Given the description of an element on the screen output the (x, y) to click on. 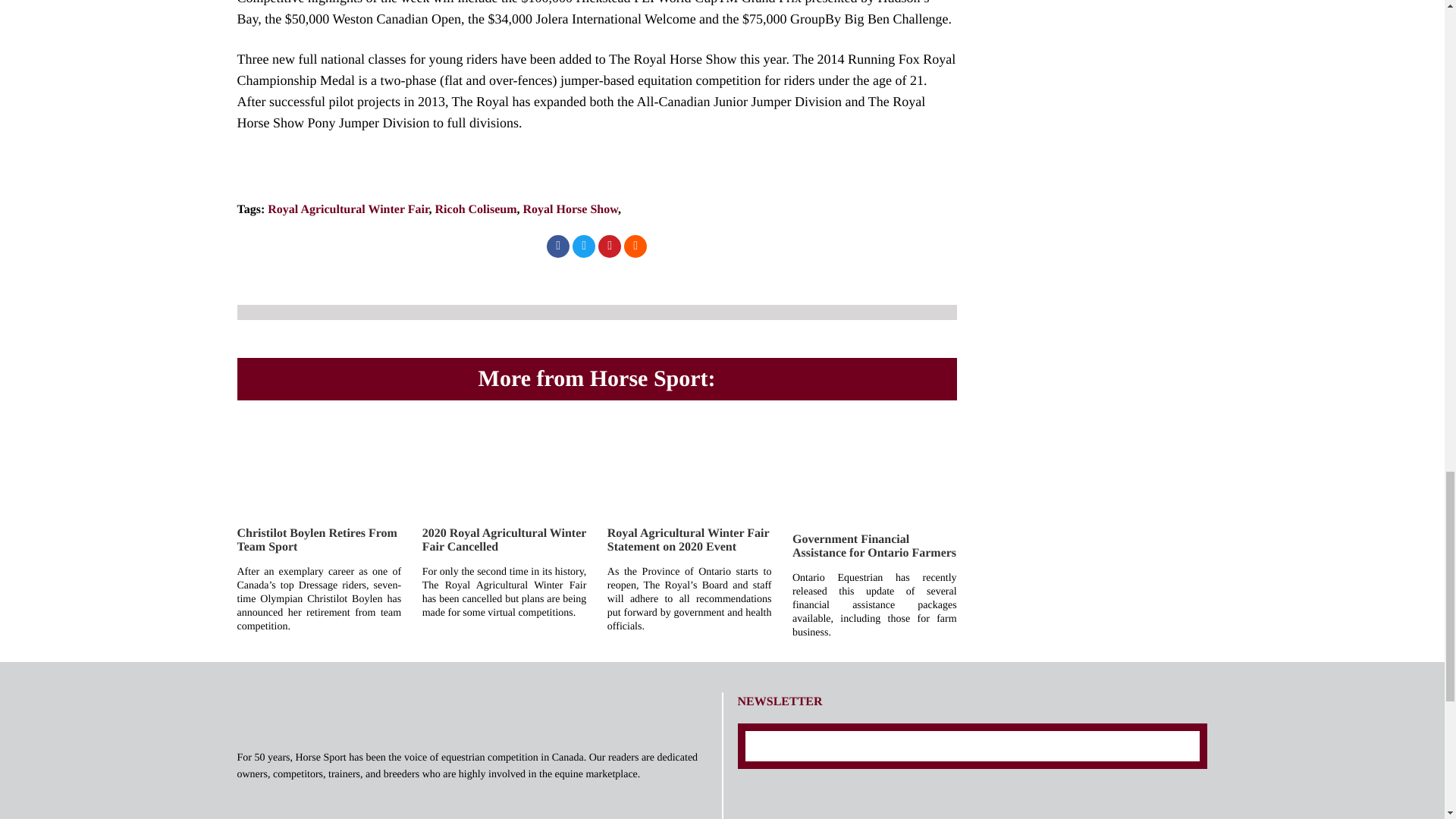
Royal Agricultural Winter Fair (347, 209)
Royal Agricultural Winter Fair Statement on 2020 Event (687, 540)
Royal Horse Show (569, 209)
2020 Royal Agricultural Winter Fair Cancelled (504, 540)
Christilot Boylen Retires From Team Sport (315, 540)
Ricoh Coliseum (475, 209)
